Given the description of an element on the screen output the (x, y) to click on. 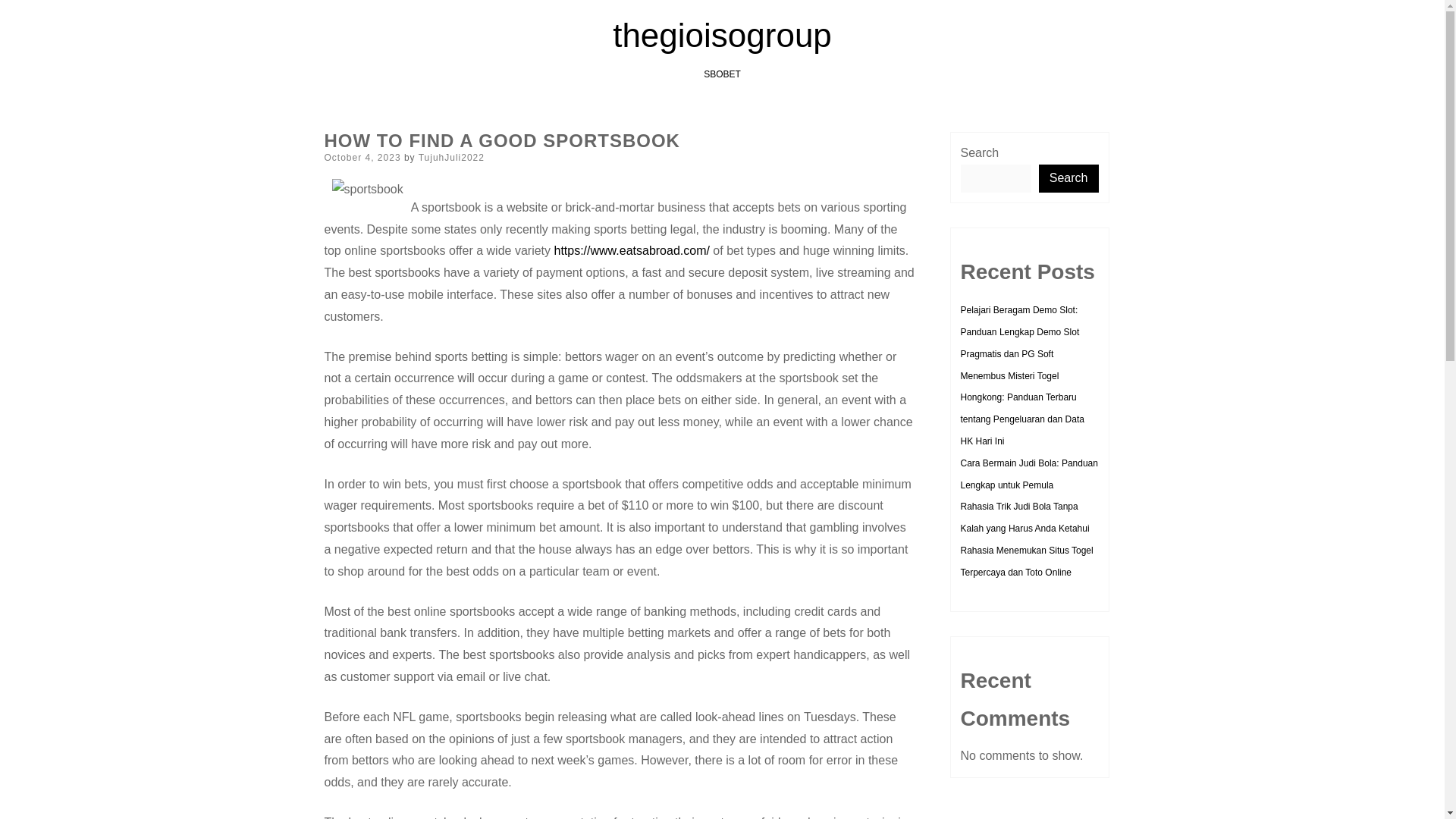
Search (1069, 178)
thegioisogroup (721, 35)
Cara Bermain Judi Bola: Panduan Lengkap untuk Pemula (1028, 473)
TujuhJuli2022 (451, 157)
Rahasia Menemukan Situs Togel Terpercaya dan Toto Online (1026, 561)
October 4, 2023 (362, 157)
Rahasia Trik Judi Bola Tanpa Kalah yang Harus Anda Ketahui (1024, 517)
